Given the description of an element on the screen output the (x, y) to click on. 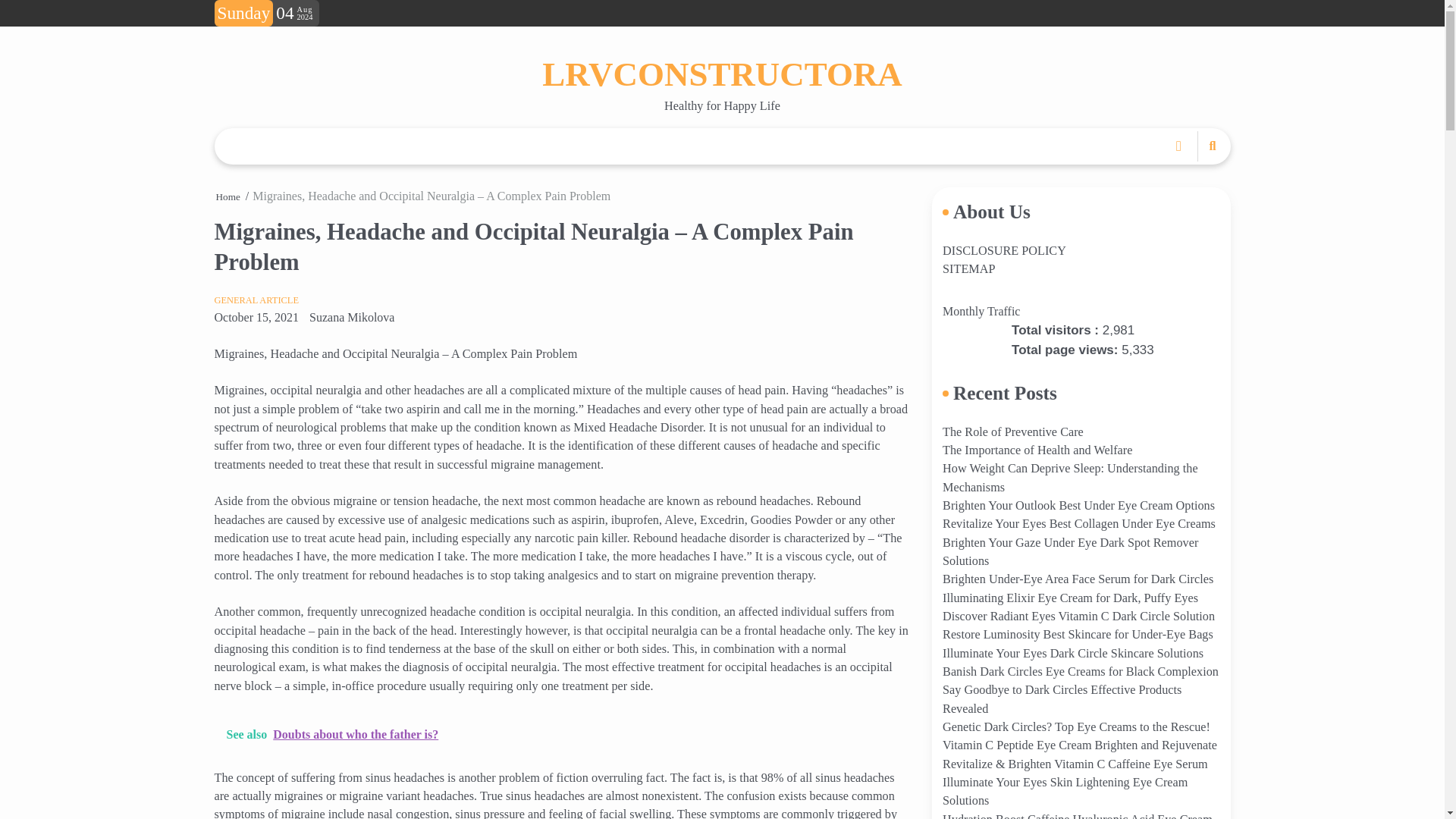
Hydration Boost Caffeine Hyaluronic Acid Eye Cream (1077, 816)
Home (227, 196)
Brighten Your Outlook Best Under Eye Cream Options (1078, 505)
Illuminate Your Eyes Skin Lightening Eye Cream Solutions (1065, 791)
Banish Dark Circles Eye Creams for Black Complexion (1080, 671)
SITEMAP (968, 269)
October 15, 2021 (256, 317)
How Weight Can Deprive Sleep: Understanding the Mechanisms (1070, 477)
Say Goodbye to Dark Circles Effective Products Revealed (1061, 698)
Discover Radiant Eyes Vitamin C Dark Circle Solution (1078, 616)
